Given the description of an element on the screen output the (x, y) to click on. 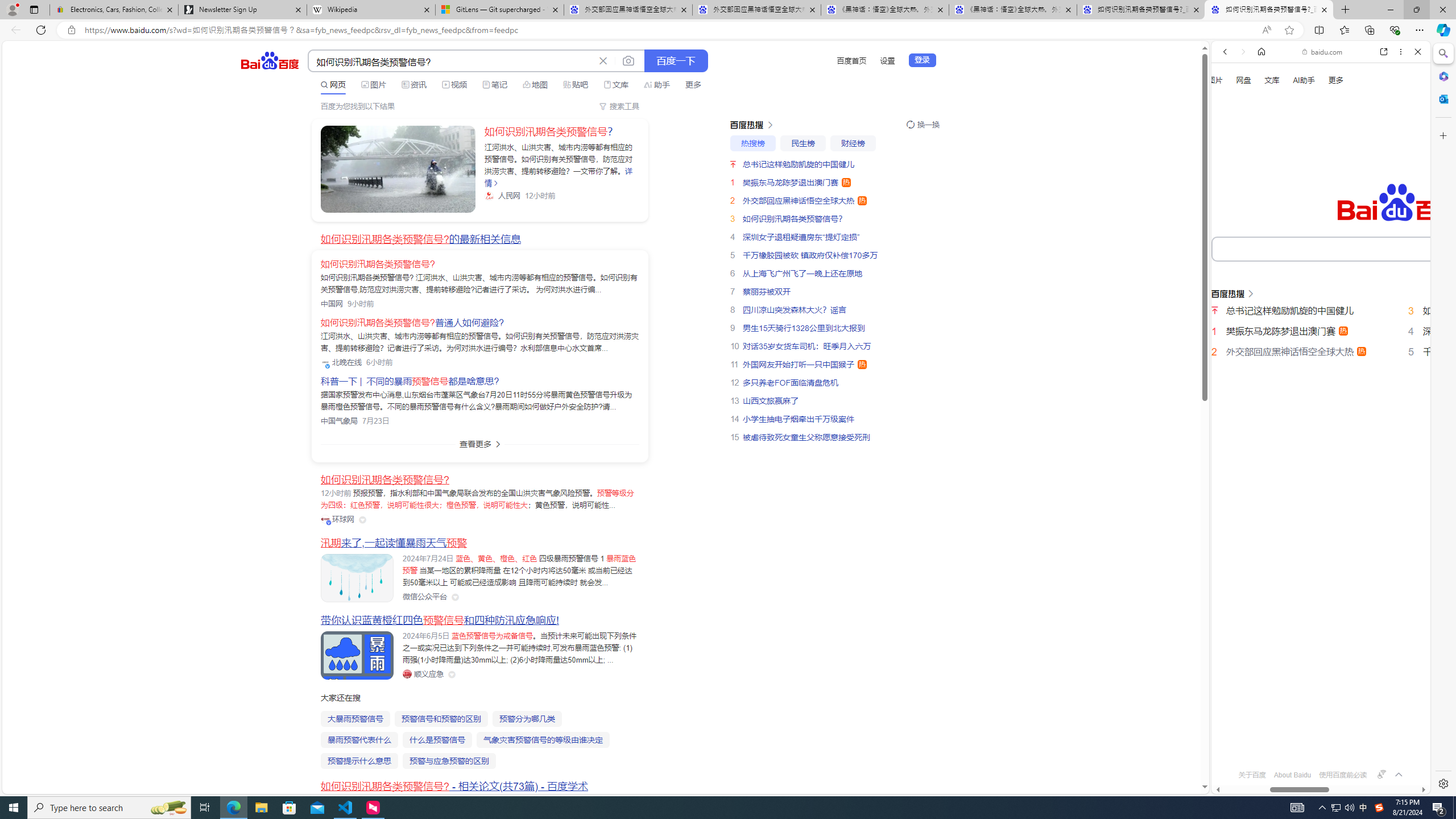
Search Filter, IMAGES (1262, 192)
